Given the description of an element on the screen output the (x, y) to click on. 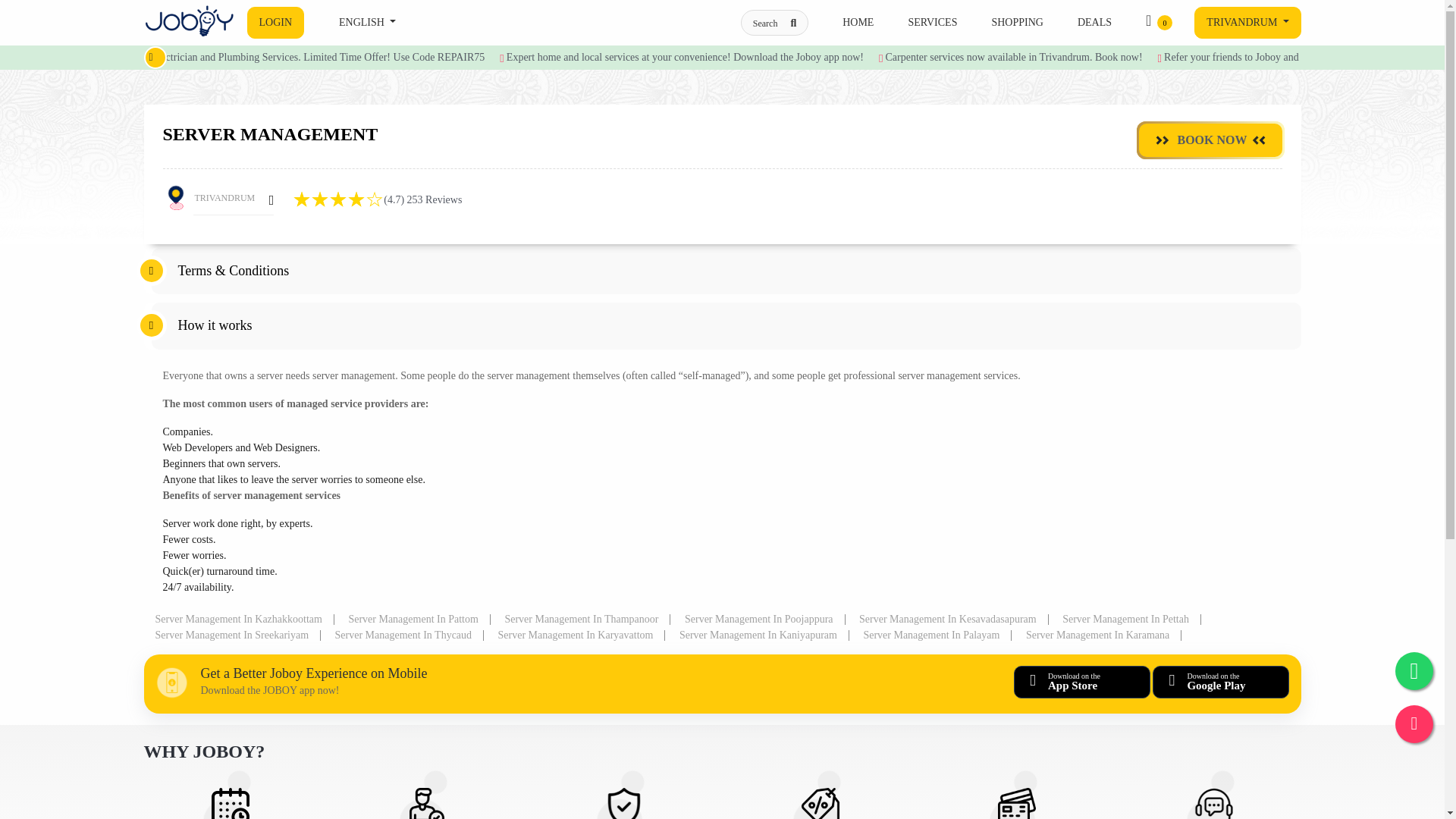
0 (1152, 22)
Search (774, 22)
DEALS (1094, 22)
ENGLISH (366, 22)
LOGIN (275, 22)
TRIVANDRUM (1246, 22)
SERVICES (931, 22)
SHOPPING (1016, 22)
Carpenter services now available in Trivandrum. Book now! (1013, 57)
HOME (858, 22)
